Given the description of an element on the screen output the (x, y) to click on. 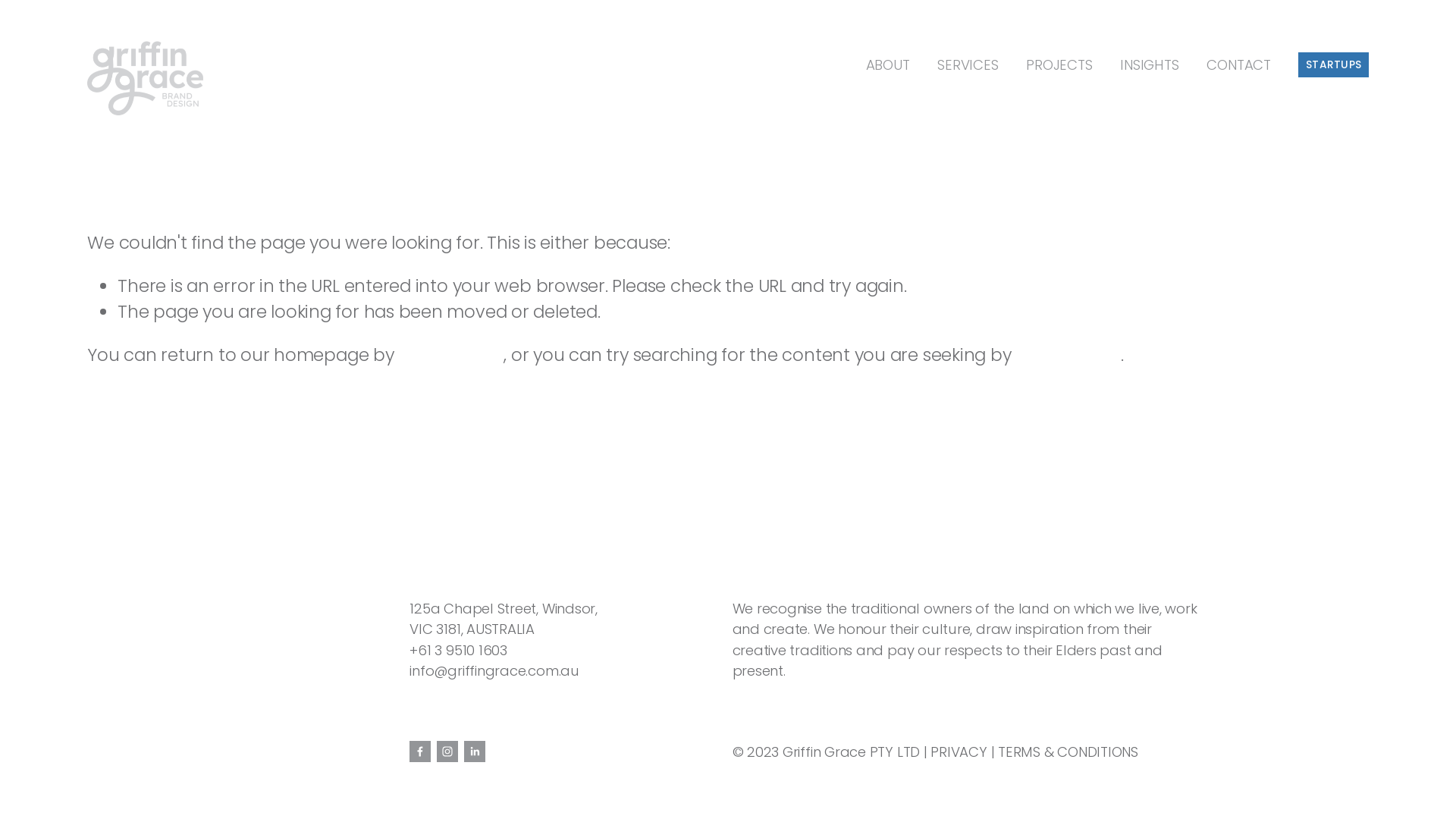
STARTUPS Element type: text (1333, 64)
+61 3 9510 1603 Element type: text (458, 650)
PROJECTS Element type: text (1059, 64)
INSIGHTS Element type: text (1149, 64)
SERVICES Element type: text (967, 64)
clicking here Element type: text (1067, 354)
clicking here Element type: text (450, 354)
ABOUT Element type: text (888, 64)
PRIVACY Element type: text (958, 751)
CONTACT Element type: text (1238, 64)
info@griffingrace.com.au Element type: text (494, 670)
TERMS & CONDITIONS Element type: text (1067, 751)
